Given the description of an element on the screen output the (x, y) to click on. 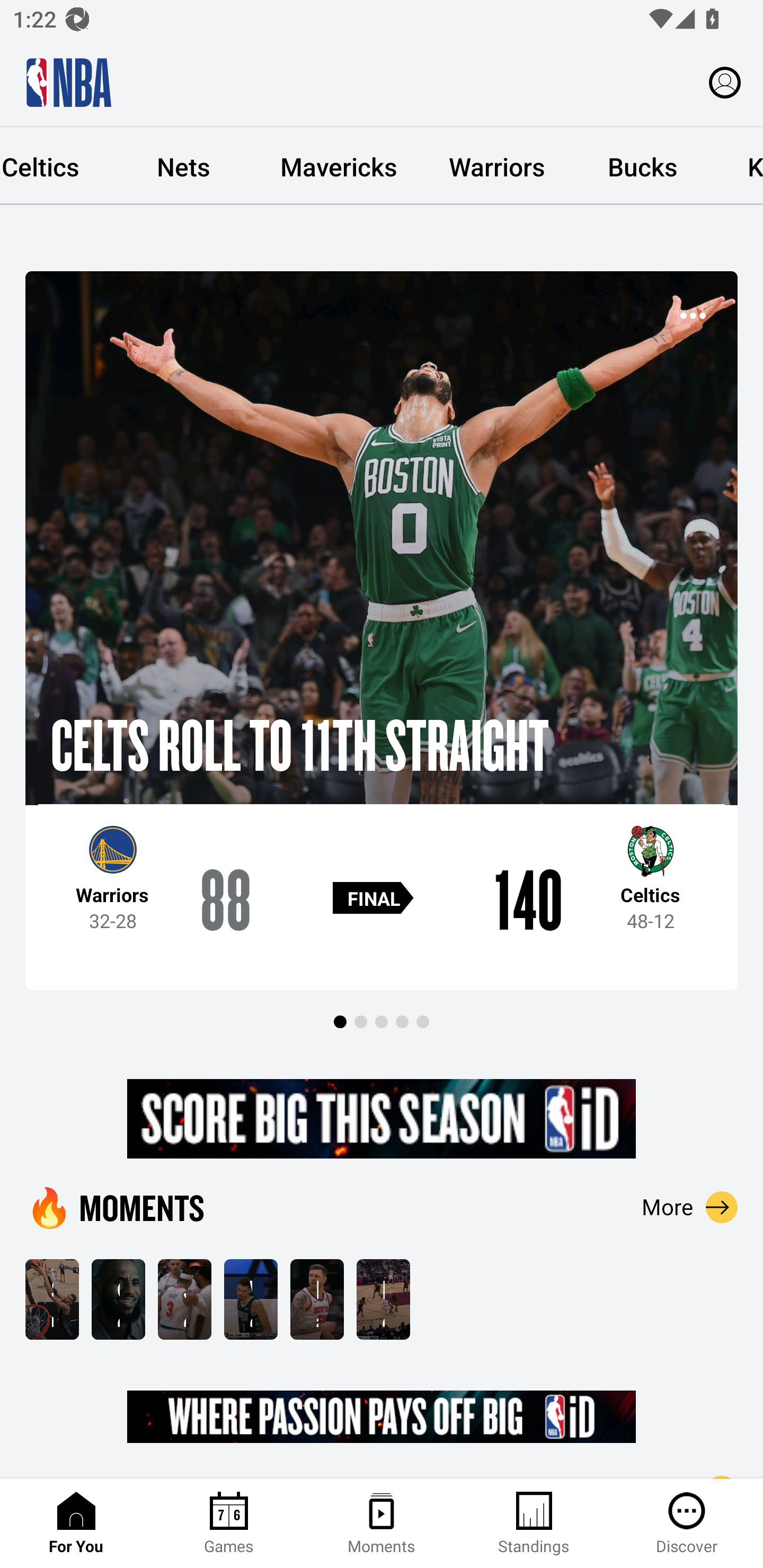
Profile (724, 81)
Celtics (56, 166)
Nets (183, 166)
Mavericks (338, 166)
Warriors (497, 166)
Bucks (642, 166)
More (689, 1207)
Sunday's Top Plays In 30 Seconds ⏱ (51, 1299)
Hartenstein Drops The Hammer 🔨 (317, 1299)
Games (228, 1523)
Moments (381, 1523)
Standings (533, 1523)
Discover (686, 1523)
